Given the description of an element on the screen output the (x, y) to click on. 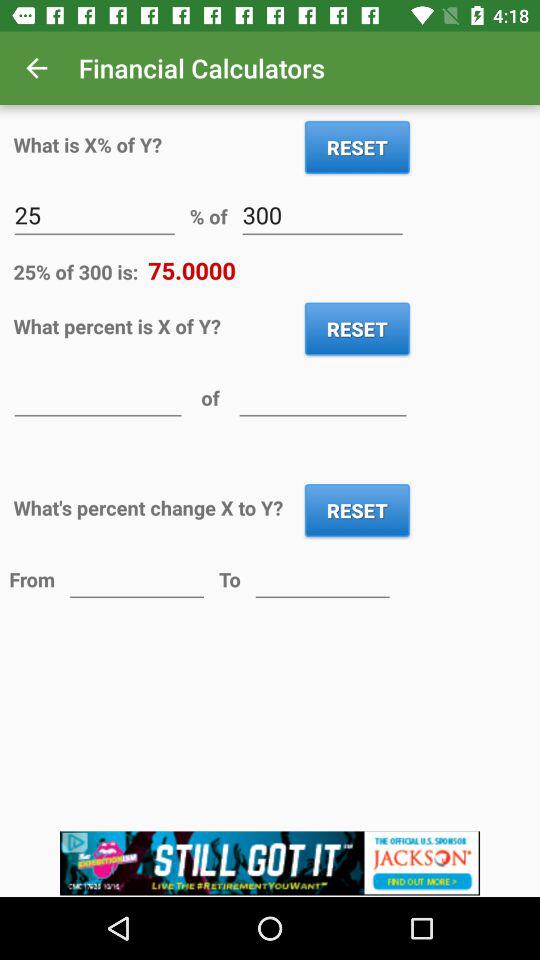
value (97, 396)
